Given the description of an element on the screen output the (x, y) to click on. 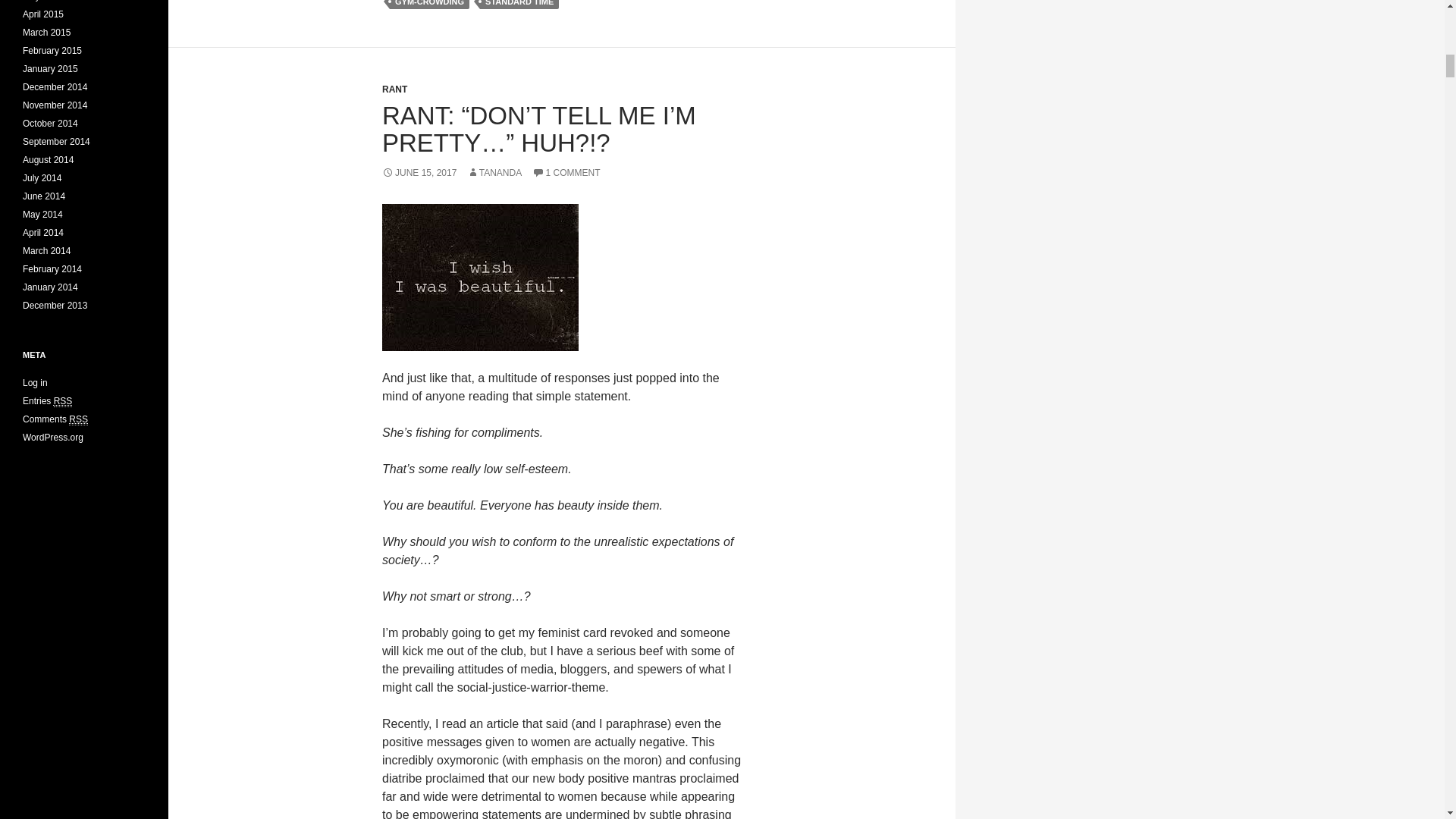
TANANDA (494, 172)
STANDARD TIME (519, 4)
1 COMMENT (565, 172)
GYM-CROWDING (429, 4)
JUNE 15, 2017 (419, 172)
Really Simple Syndication (77, 419)
RANT (394, 89)
Really Simple Syndication (62, 401)
